Given the description of an element on the screen output the (x, y) to click on. 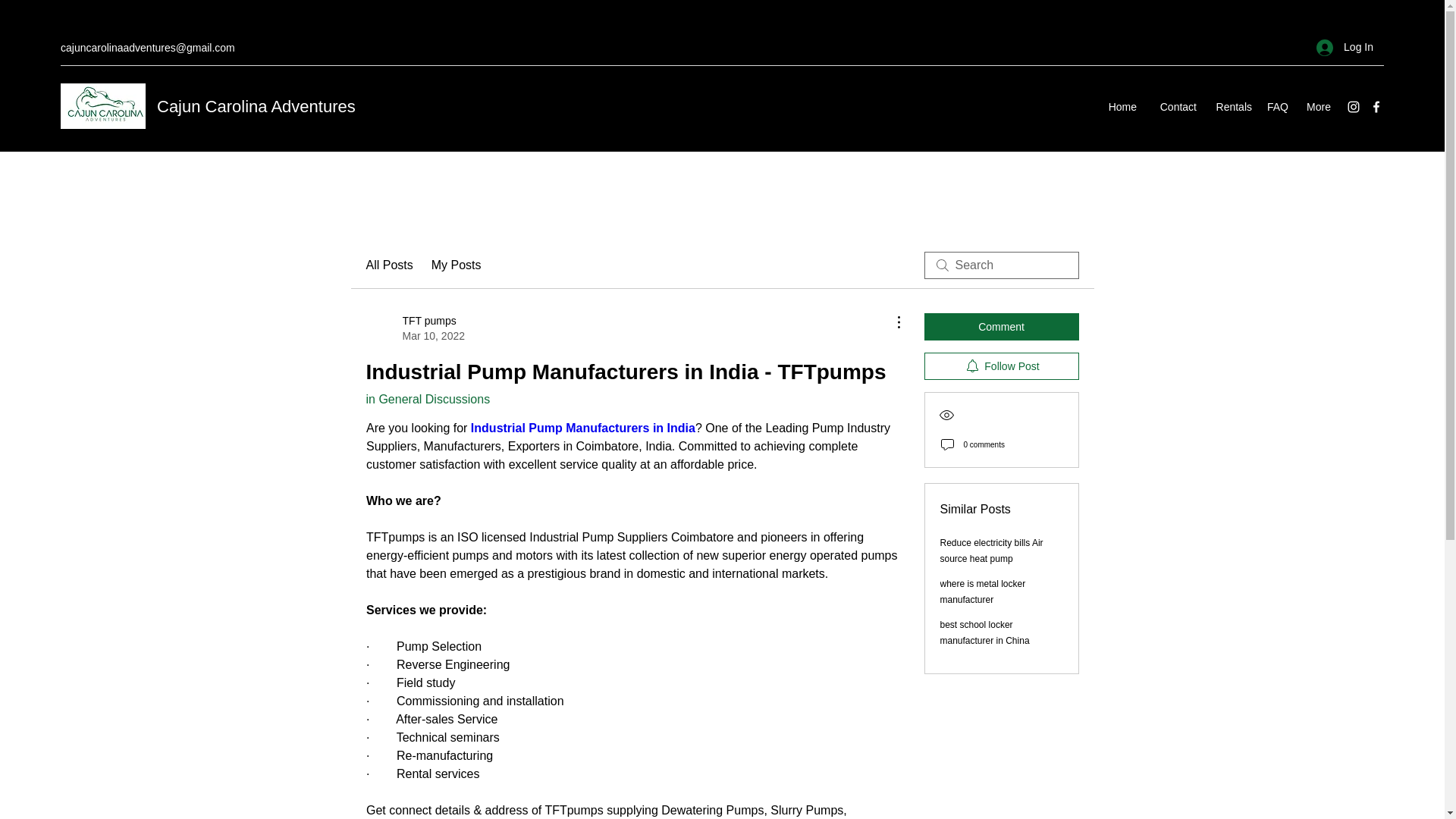
My Posts (455, 265)
Contact (1174, 106)
Cajun Carolina Adventures (256, 106)
FAQ (1277, 106)
in General Discussions (427, 399)
All Posts (388, 265)
best school locker manufacturer in China (984, 632)
Reduce electricity bills Air source heat pump (991, 550)
Industrial Pump Manufacturers in India (582, 427)
where is metal locker manufacturer (983, 591)
Home (414, 327)
Comment (1120, 106)
Log In (1000, 326)
Follow Post (1345, 47)
